Given the description of an element on the screen output the (x, y) to click on. 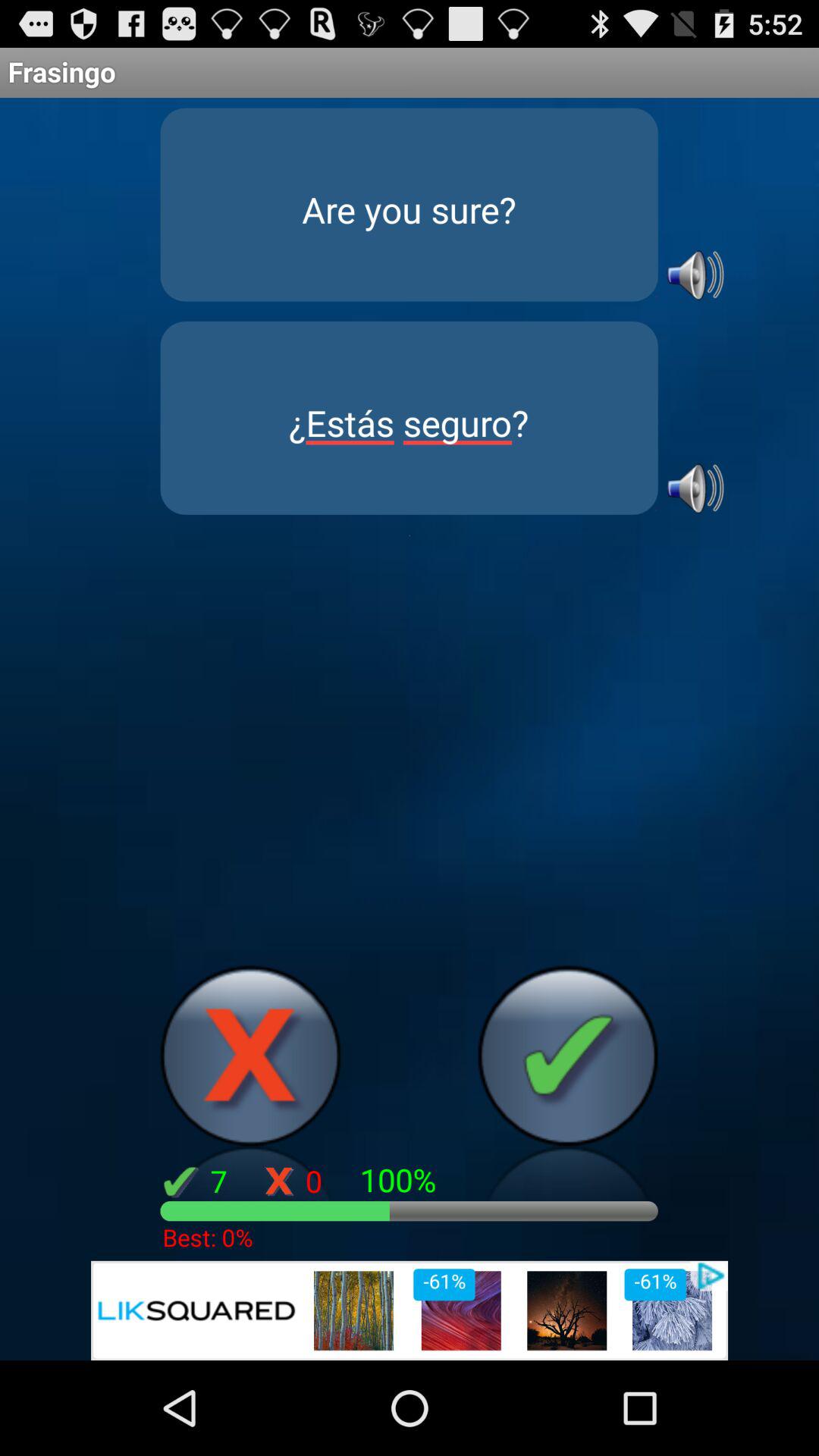
know about the advertisement (409, 1310)
